Given the description of an element on the screen output the (x, y) to click on. 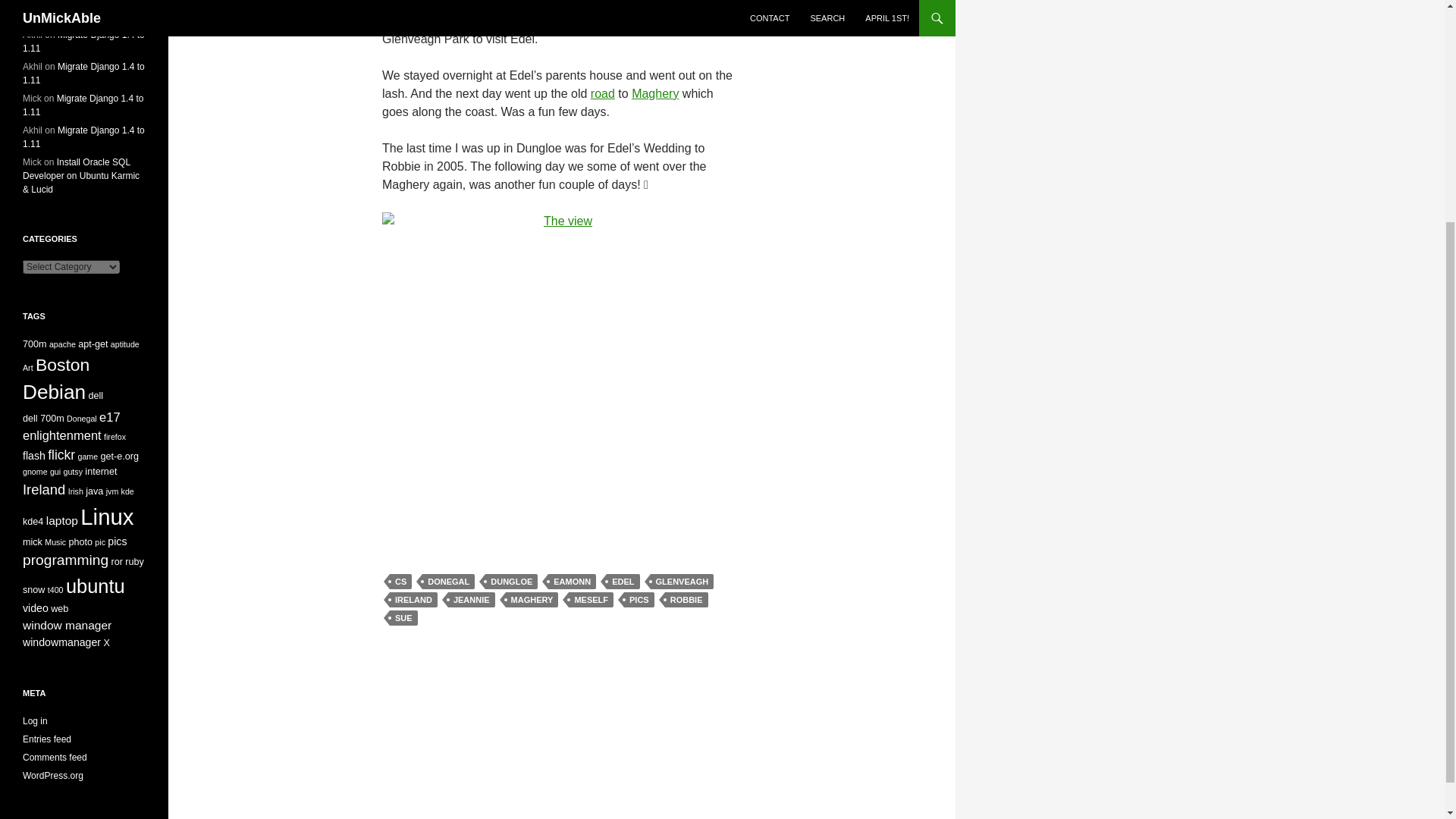
road (602, 92)
DUNGLOE (510, 581)
GLENVEAGH (682, 581)
EAMONN (571, 581)
JEANNIE (471, 599)
SUE (403, 617)
PICS (638, 599)
Migrate Django 1.4 to 1.11 (83, 73)
set (437, 4)
Maghery (654, 92)
DONEGAL (448, 581)
ROBBIE (686, 599)
Migrate Django 1.4 to 1.11 (83, 41)
MESELF (590, 599)
EDEL (623, 581)
